Given the description of an element on the screen output the (x, y) to click on. 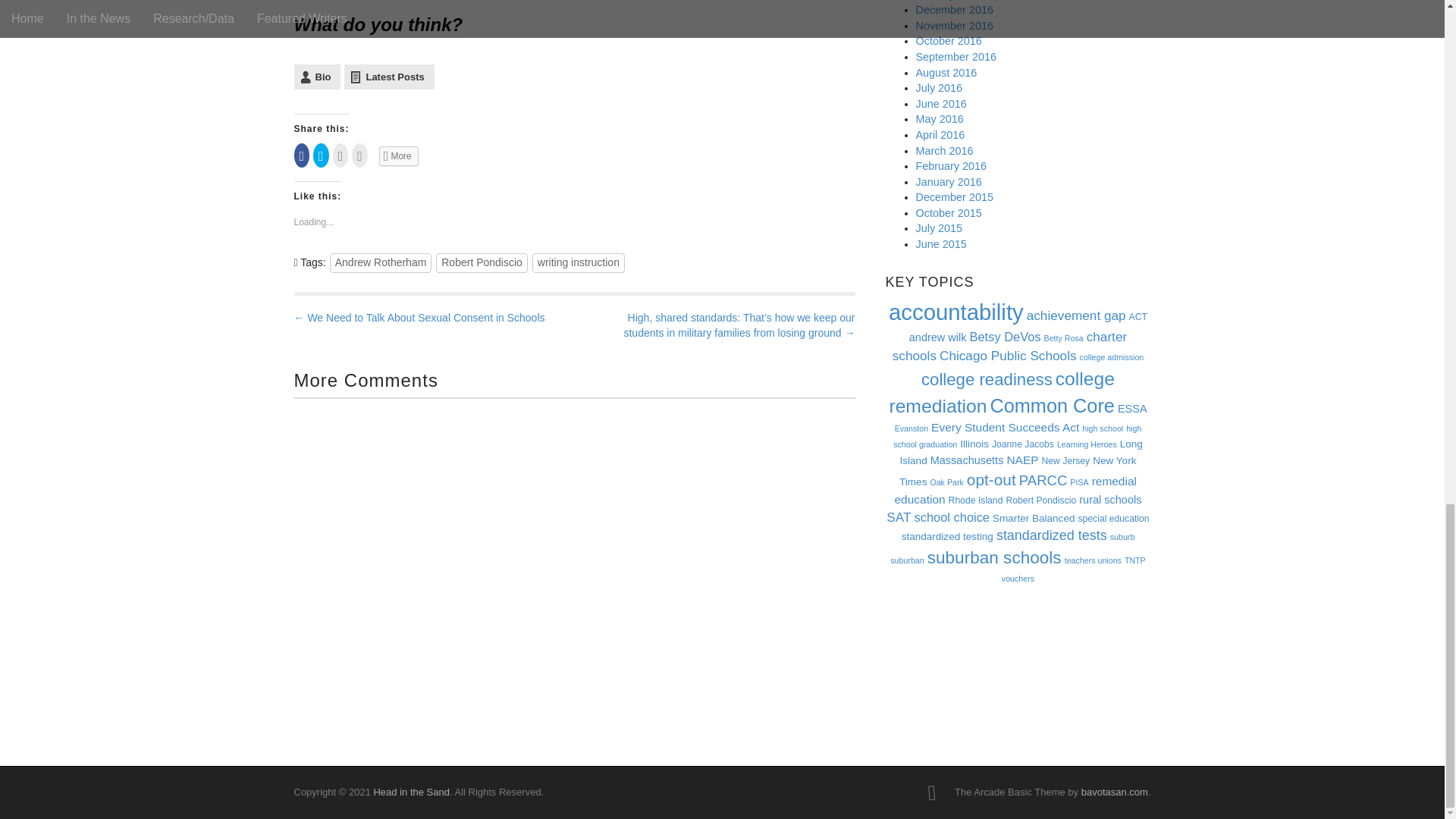
Latest Posts (388, 76)
Robert Pondiscio (481, 262)
Bio (317, 76)
writing instruction (578, 262)
More (398, 156)
Andrew Rotherham (381, 262)
